Given the description of an element on the screen output the (x, y) to click on. 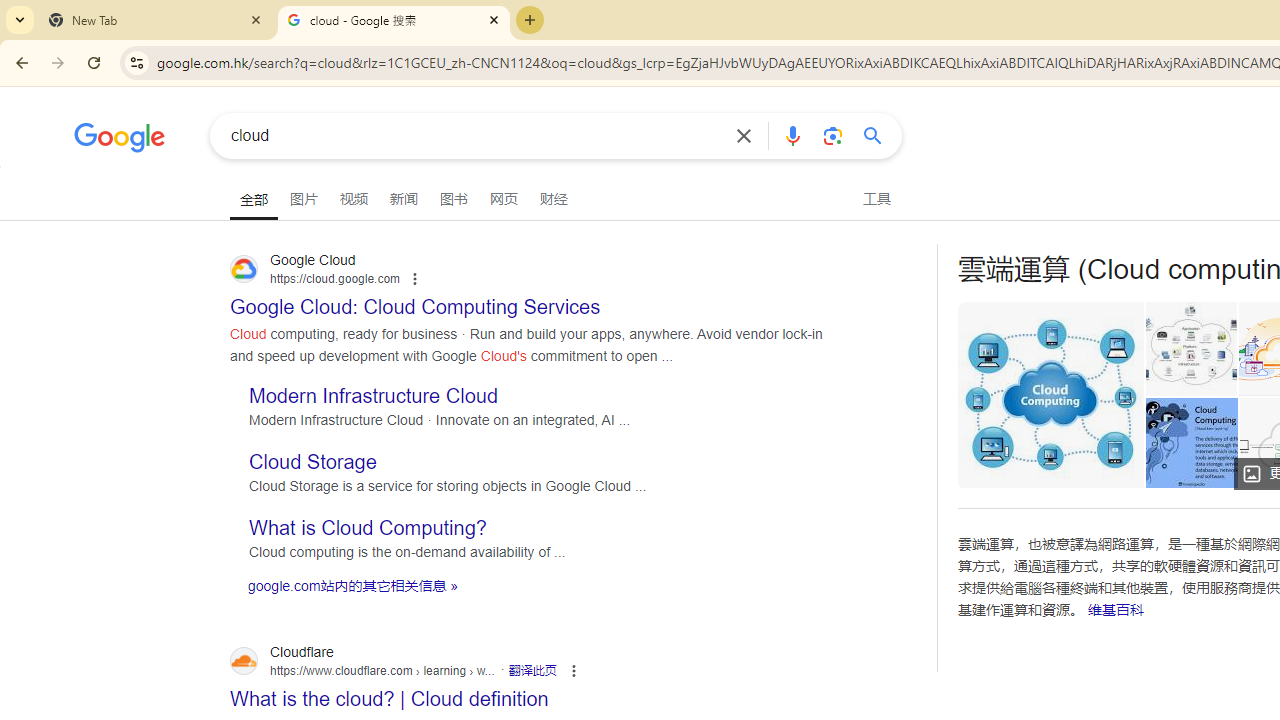
Cloud Storage (313, 461)
Cloud computing - Wikipedia (1190, 348)
What Is Cloud Computing? (1191, 443)
Modern Infrastructure Cloud (374, 394)
What is Cloud Computing? (367, 528)
What Is Cloud Computing? (1191, 443)
